Given the description of an element on the screen output the (x, y) to click on. 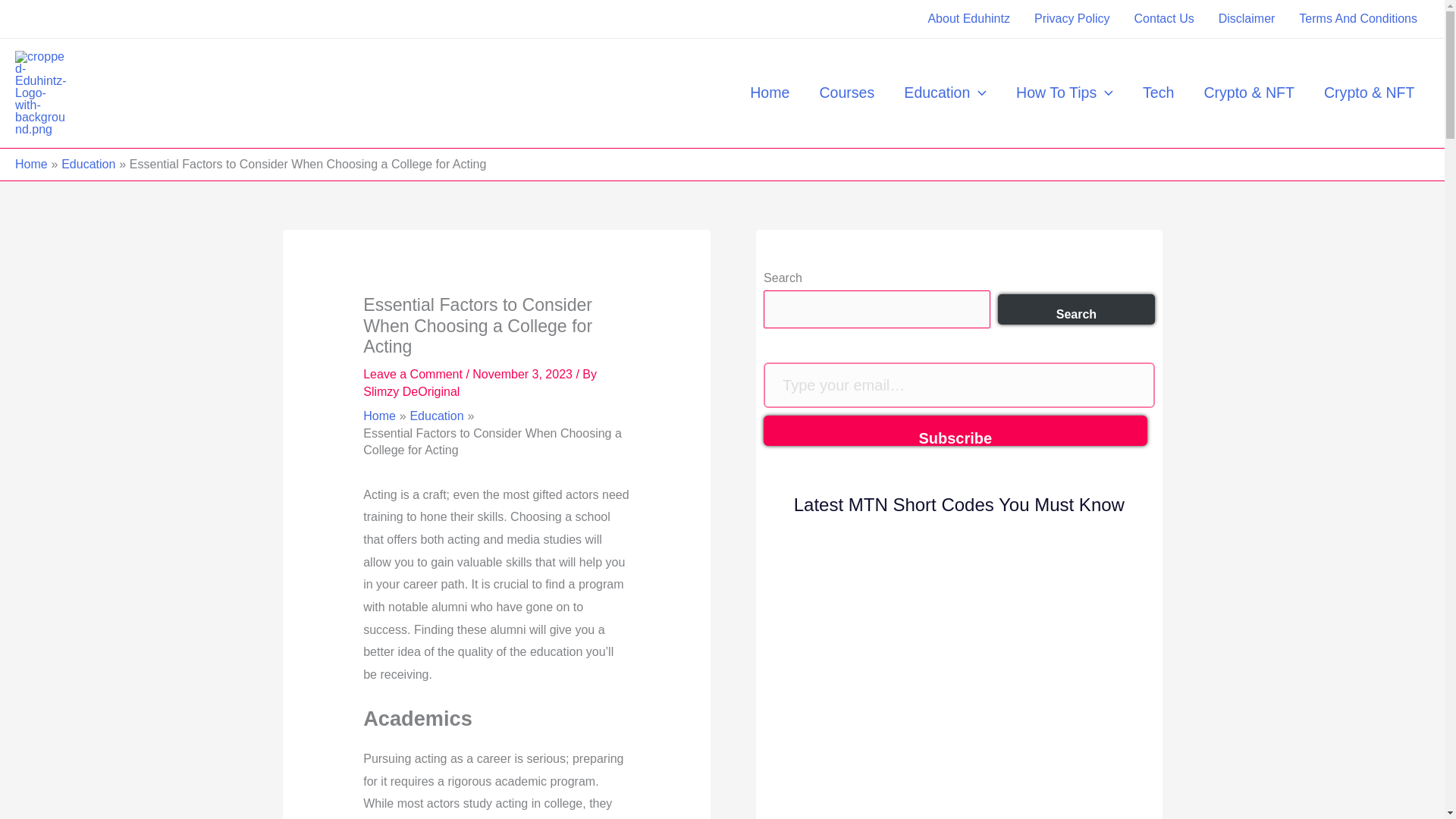
Privacy Policy (1072, 18)
Tech (1157, 92)
About Eduhintz (968, 18)
Home (770, 92)
Disclaimer (1247, 18)
View all posts by Slimzy DeOriginal (411, 391)
Terms And Conditions (1358, 18)
Contact Us (1164, 18)
Courses (847, 92)
How To Tips (1064, 92)
Education (945, 92)
